Given the description of an element on the screen output the (x, y) to click on. 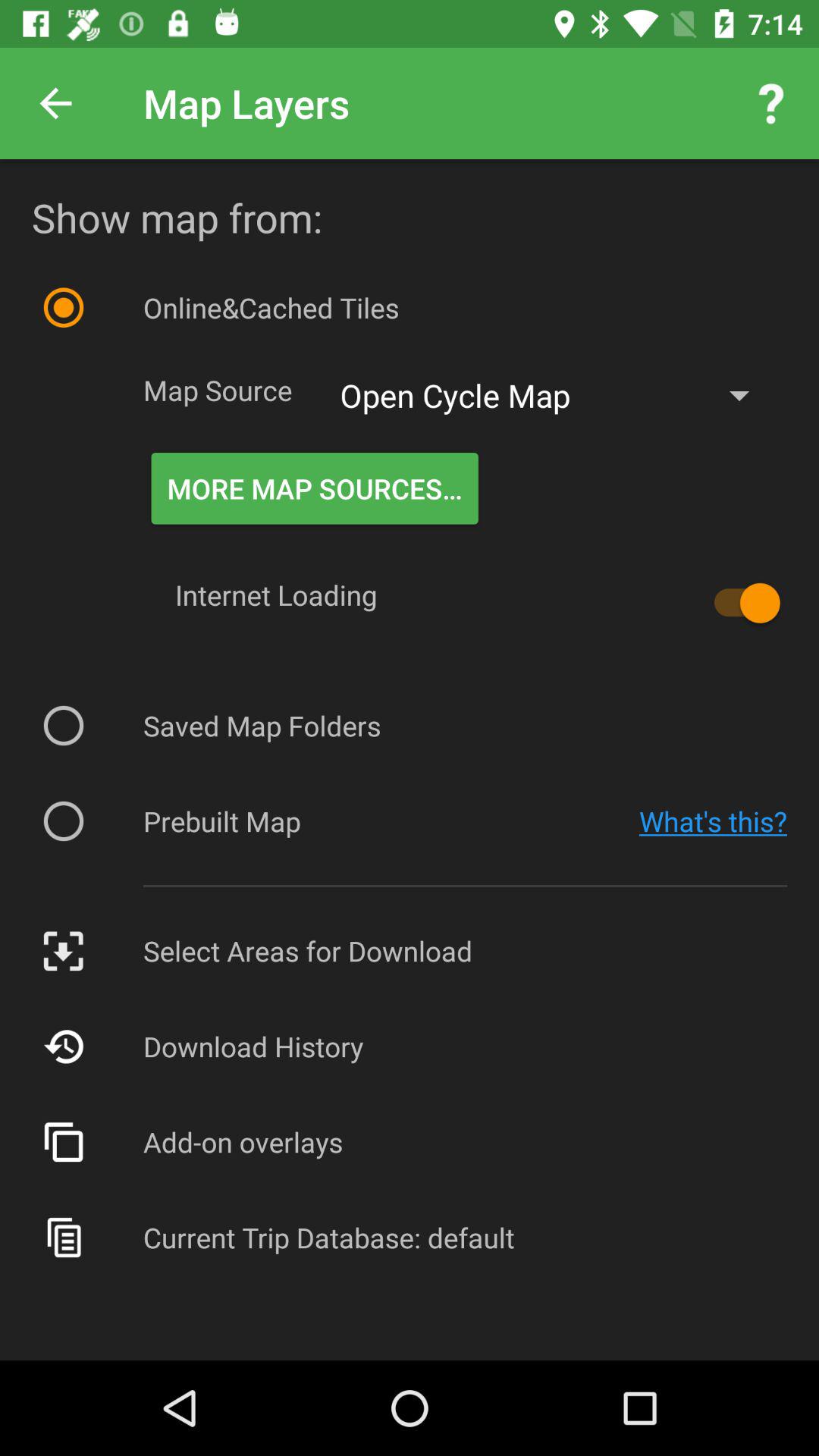
open icon to the right of internet loading item (739, 603)
